Given the description of an element on the screen output the (x, y) to click on. 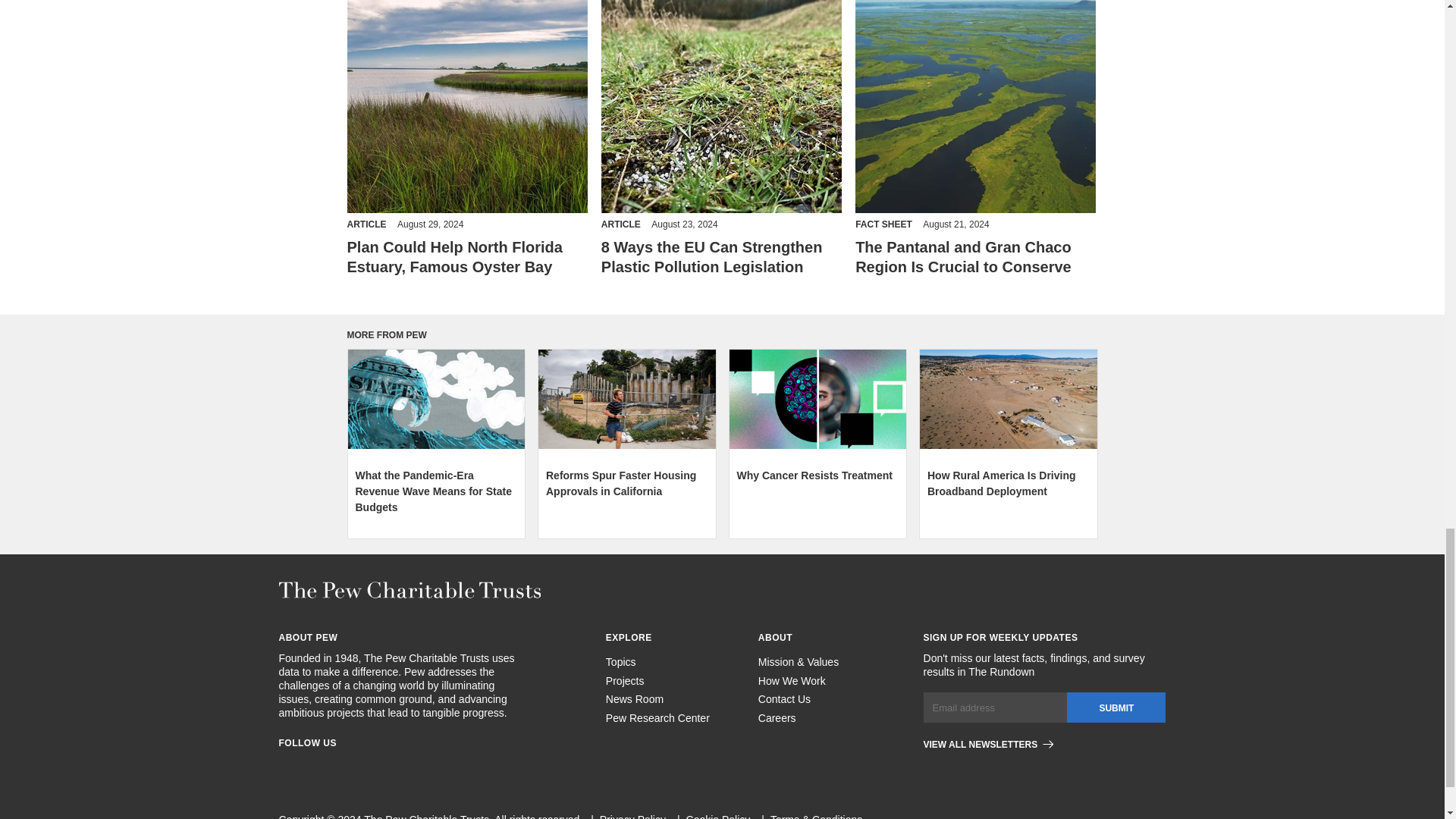
YouTube (421, 766)
Follow us on twitter  (367, 766)
Facebook (285, 766)
RSS (394, 766)
